Given the description of an element on the screen output the (x, y) to click on. 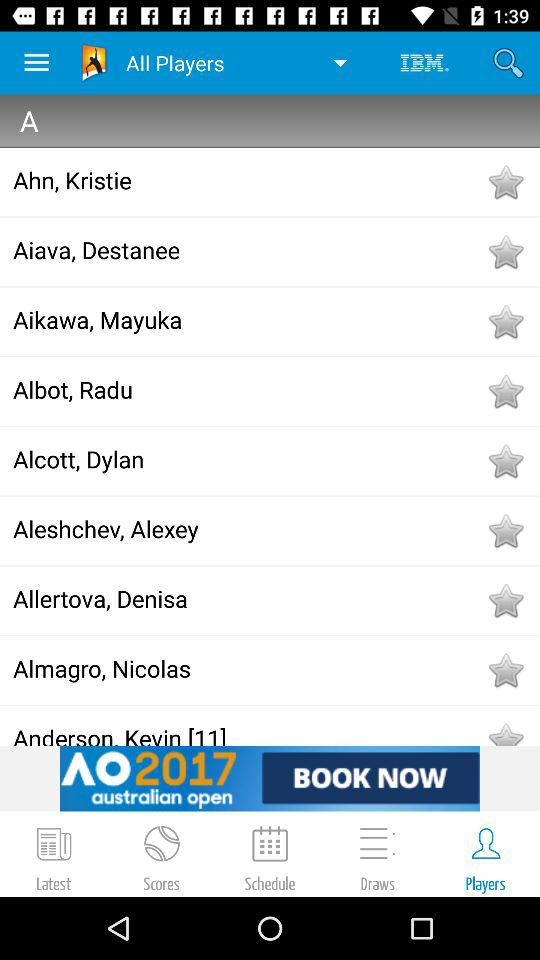
toggle favorite (505, 461)
